Given the description of an element on the screen output the (x, y) to click on. 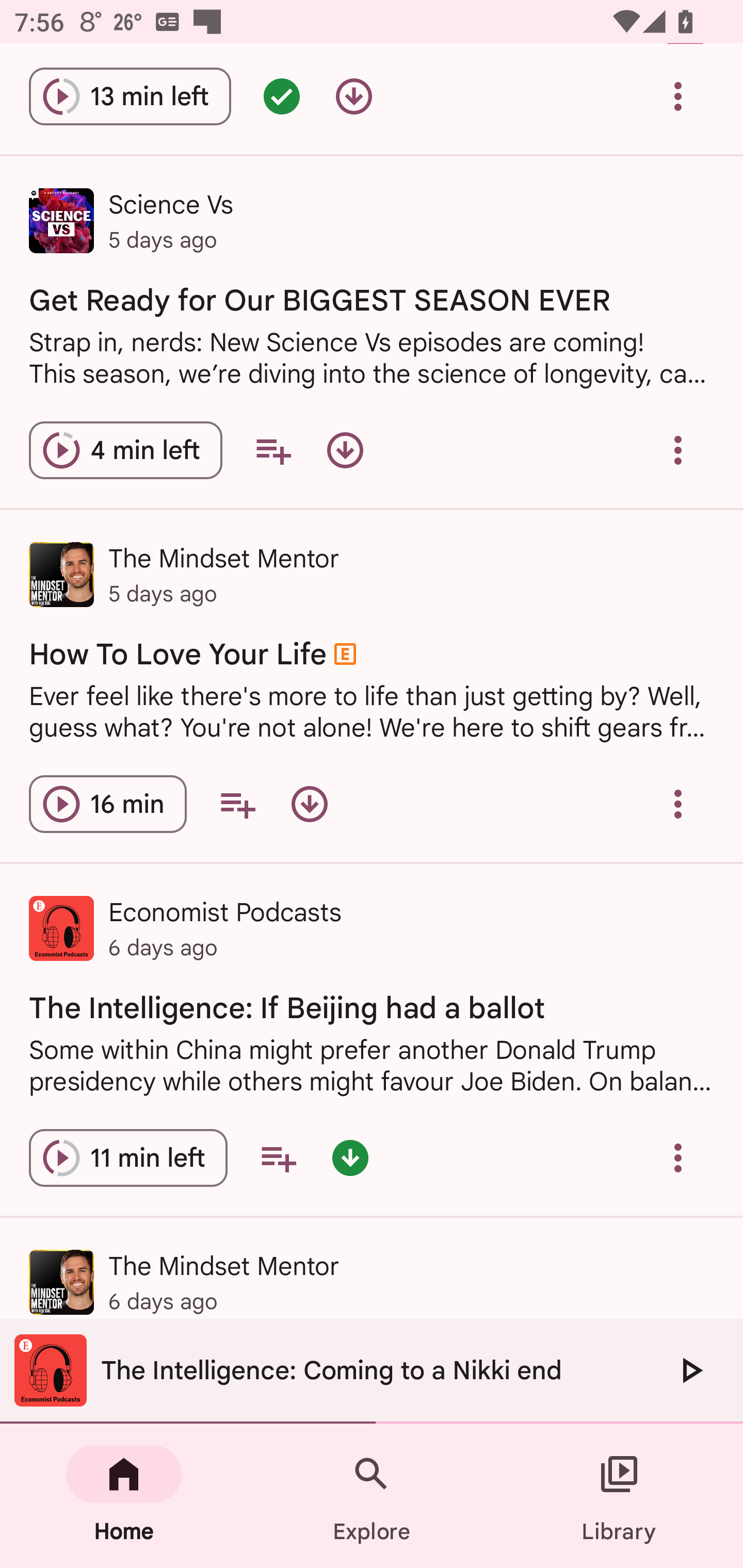
Episode queued - double tap for options (281, 96)
Download episode (354, 96)
Overflow menu (677, 96)
Add to your queue (273, 450)
Download episode (345, 450)
Overflow menu (677, 450)
Play episode How To Love Your Life 16 min (107, 803)
Add to your queue (237, 803)
Download episode (309, 803)
Overflow menu (677, 803)
Add to your queue (278, 1157)
Episode downloaded - double tap for options (350, 1157)
Overflow menu (677, 1157)
Play (690, 1370)
Explore (371, 1495)
Library (619, 1495)
